Given the description of an element on the screen output the (x, y) to click on. 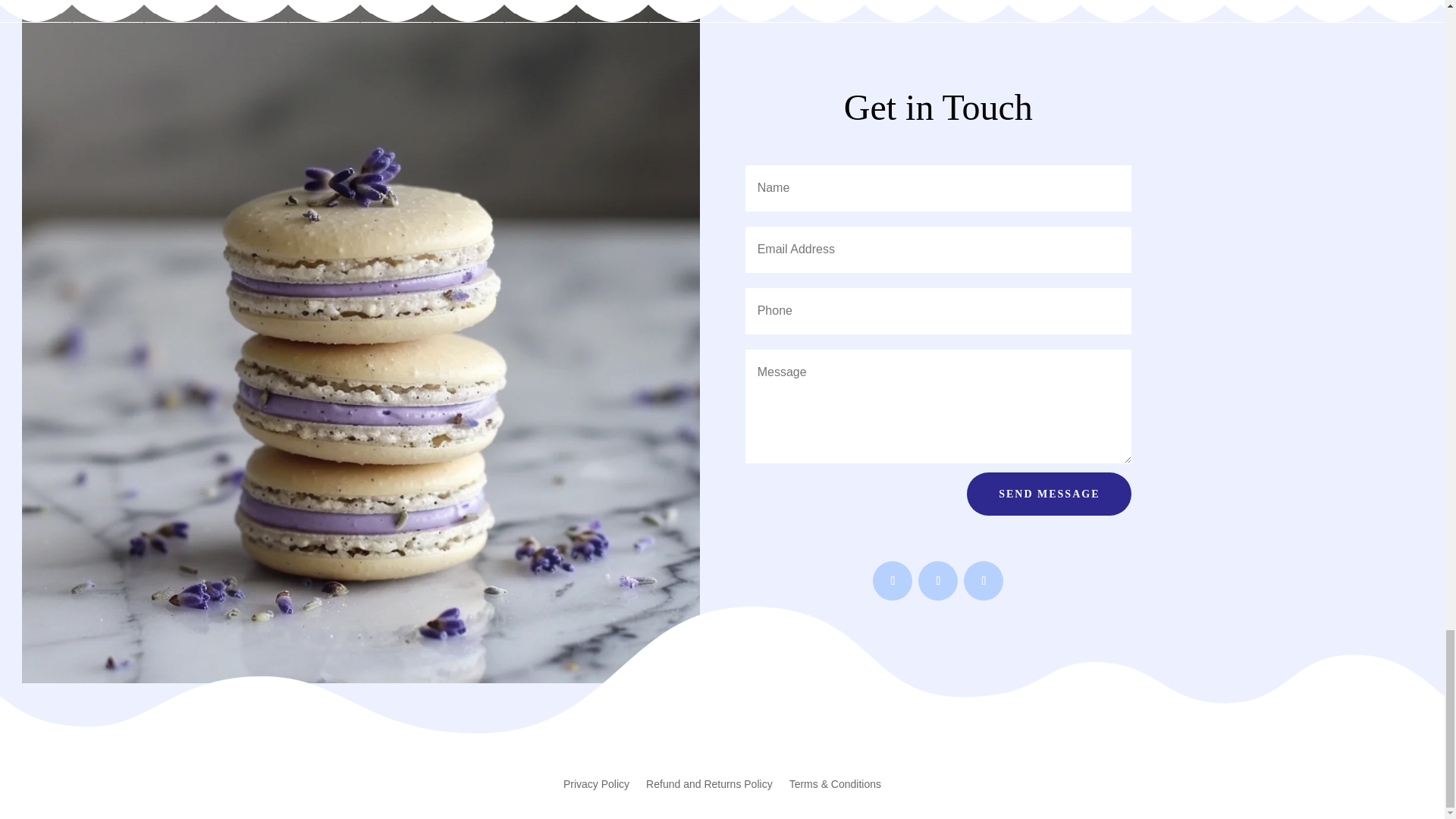
Privacy Policy (595, 786)
Refund and Returns Policy (709, 786)
Follow on X (938, 580)
SEND MESSAGE (1048, 494)
Follow on LinkedIn (983, 580)
Follow on Facebook (892, 580)
